Given the description of an element on the screen output the (x, y) to click on. 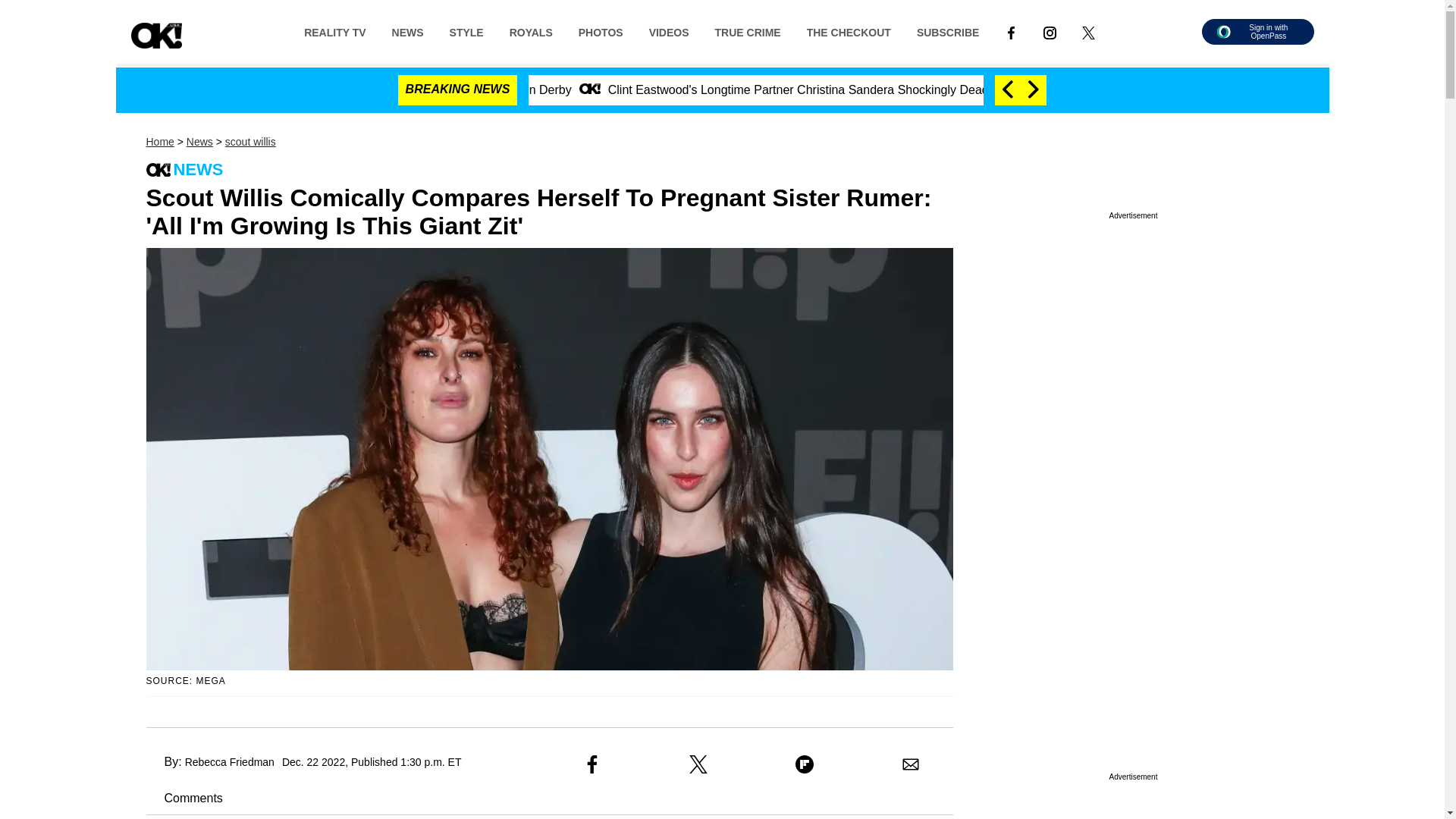
Share to Flipboard (803, 764)
scout willis (250, 141)
LINK TO FACEBOOK (1010, 32)
Share to Email (909, 764)
LINK TO X (1087, 32)
Rebecca Friedman (229, 761)
THE CHECKOUT (848, 31)
SUBSCRIBE (947, 31)
Share to Facebook (590, 764)
Home (159, 141)
PHOTOS (601, 31)
NEWS (407, 31)
ROYALS (531, 31)
Link to X (1088, 31)
